Given the description of an element on the screen output the (x, y) to click on. 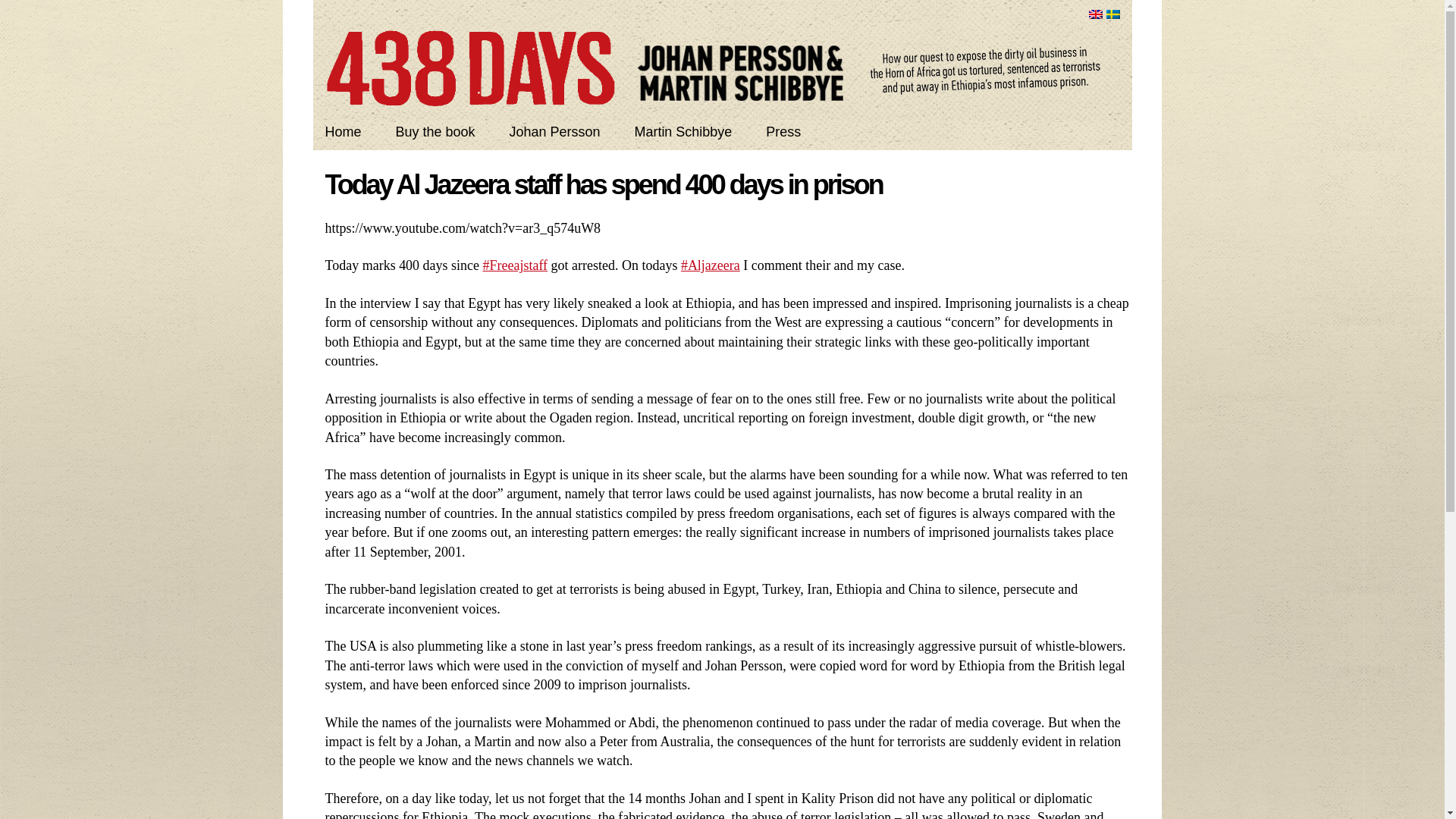
Skip to content (767, 129)
Johan Persson (553, 132)
Home (342, 132)
Press (782, 132)
Skip to content (767, 129)
Buy the book (434, 132)
Martin Schibbye (682, 132)
